Given the description of an element on the screen output the (x, y) to click on. 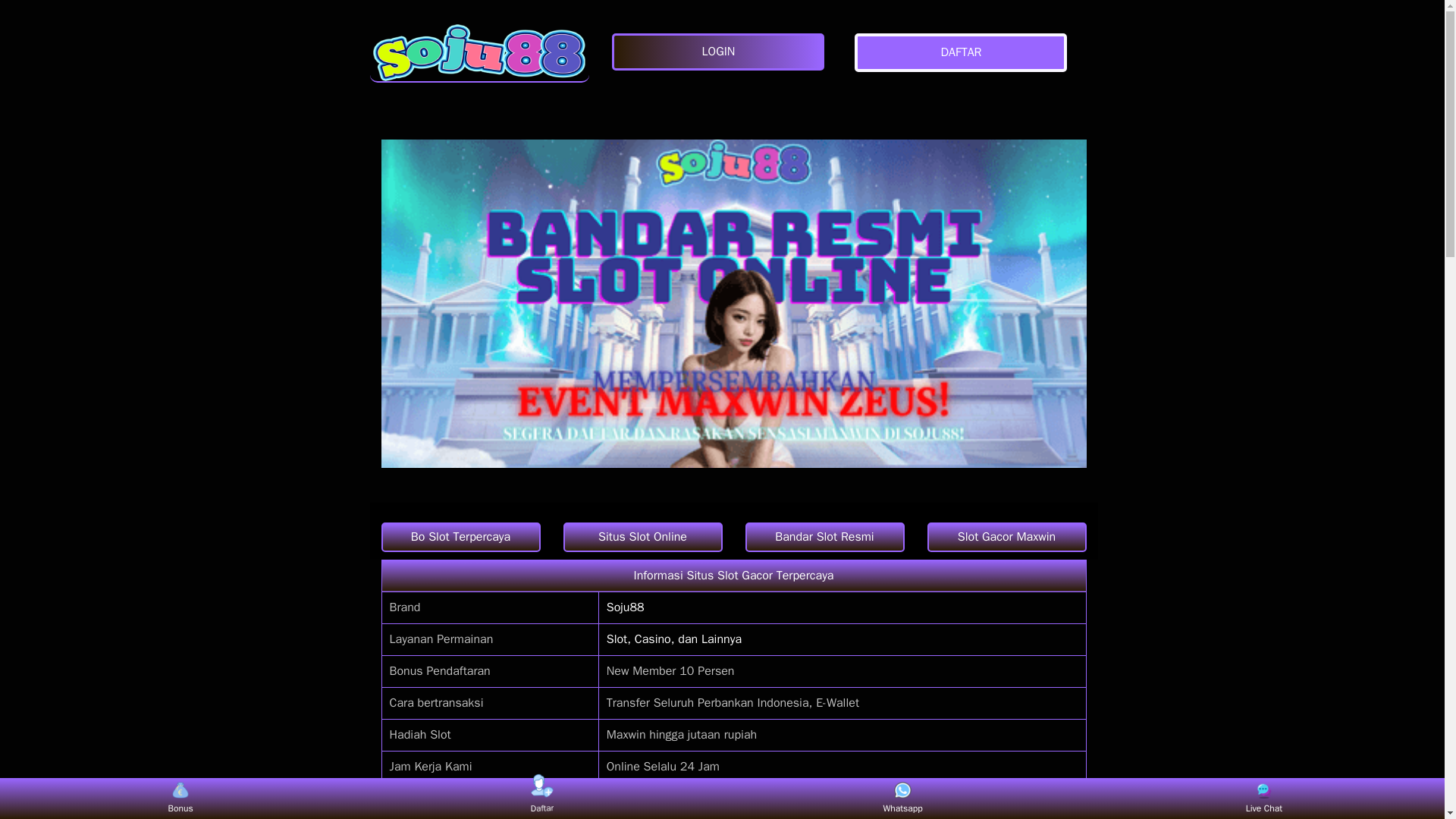
Soju88 (479, 52)
Bandar Slot Resmi (824, 537)
DAFTAR (964, 52)
Slot Gacor Maxwin (1006, 537)
Bandar Slot Resmi (824, 537)
LOGIN (721, 51)
Bo Slot Terpercaya (460, 537)
Soju88 (626, 607)
Bo Slot Terpercaya (460, 537)
Slot Gacor Maxwin (1006, 537)
Daftar (541, 797)
Bonus (180, 797)
Situs Slot Online (642, 537)
Soju88 (636, 798)
Situs Slot Online (642, 537)
